Given the description of an element on the screen output the (x, y) to click on. 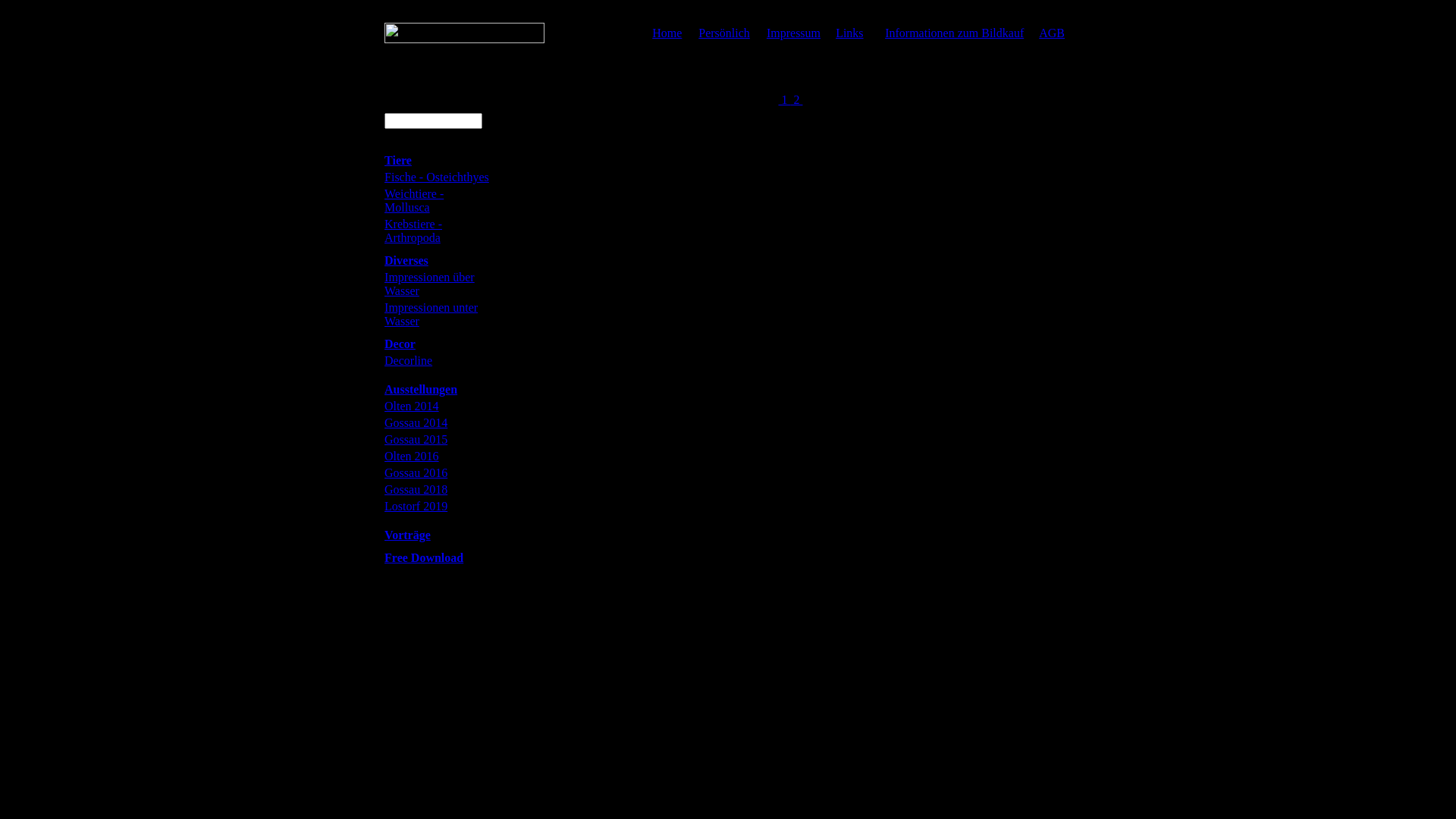
Vorschau Element type: hover (637, 156)
Impressum Element type: text (793, 31)
Vorschau Element type: hover (915, 267)
Informationen zum Bild Element type: hover (637, 397)
Gossau 2014 Element type: text (415, 422)
Olten 2014 Element type: text (411, 405)
Vorschau Element type: hover (915, 378)
Tiere Element type: text (397, 159)
Informationen zum Bild Element type: hover (915, 175)
Informationen zum Bild Element type: hover (776, 175)
Free Download Element type: text (423, 557)
Informationen zum Bild Element type: hover (637, 286)
Vorschau Element type: hover (1054, 156)
Olten 2016 Element type: text (411, 455)
Weichtiere - Mollusca Element type: text (413, 200)
Informationen zum Bild Element type: hover (776, 286)
Vorschau Element type: hover (1054, 267)
Vorschau Element type: hover (776, 267)
Informationen zum Bild Element type: hover (1054, 286)
Ausstellungen Element type: text (420, 388)
 2  Element type: text (796, 99)
Vorschau Element type: hover (1054, 378)
Decor Element type: text (399, 343)
 1  Element type: text (784, 99)
Informationen zum Bild Element type: hover (915, 286)
Informationen zum Bildkauf Element type: text (953, 31)
Informationen zum Bild Element type: hover (776, 397)
Fische - Osteichthyes Element type: text (436, 176)
Links Element type: text (848, 31)
AGB Element type: text (1051, 31)
Krebstiere - Arthropoda Element type: text (413, 230)
Gossau 2018 Element type: text (415, 489)
Vorschau Element type: hover (637, 378)
Informationen zum Bild Element type: hover (1054, 397)
Informationen zum Bild Element type: hover (637, 175)
Impressionen unter Wasser Element type: text (430, 314)
Gossau 2016 Element type: text (415, 472)
Informationen zum Bild Element type: hover (915, 397)
Decorline Element type: text (408, 360)
Vorschau Element type: hover (776, 378)
Lostorf 2019 Element type: text (415, 505)
Vorschau Element type: hover (637, 267)
Diverses Element type: text (406, 260)
Home Element type: text (666, 31)
Gossau 2015 Element type: text (415, 439)
Informationen zum Bild Element type: hover (1054, 175)
Vorschau Element type: hover (776, 156)
Vorschau Element type: hover (915, 156)
